Given the description of an element on the screen output the (x, y) to click on. 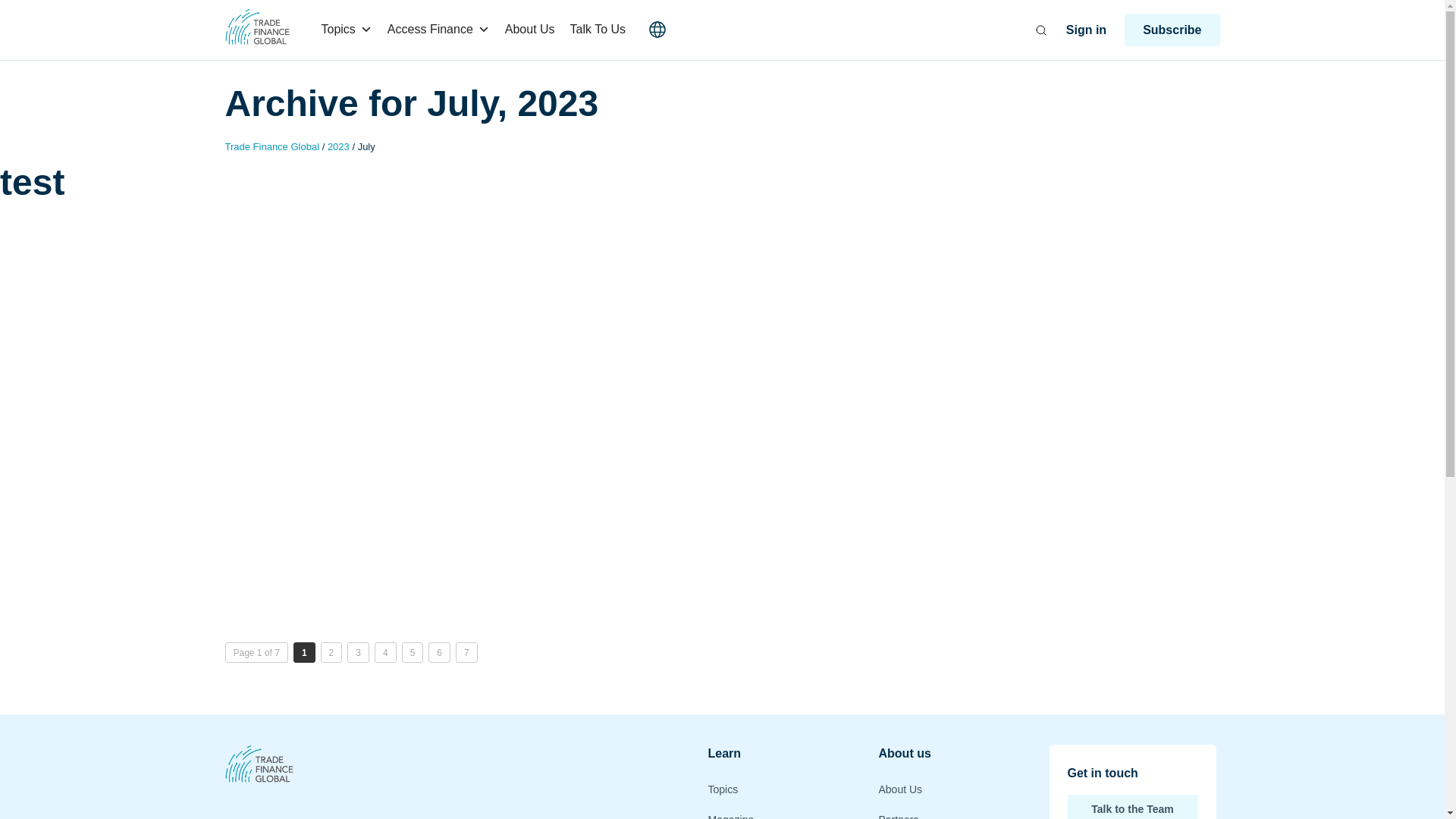
Access Finance (438, 29)
Search (32, 14)
Topics (347, 29)
